Given the description of an element on the screen output the (x, y) to click on. 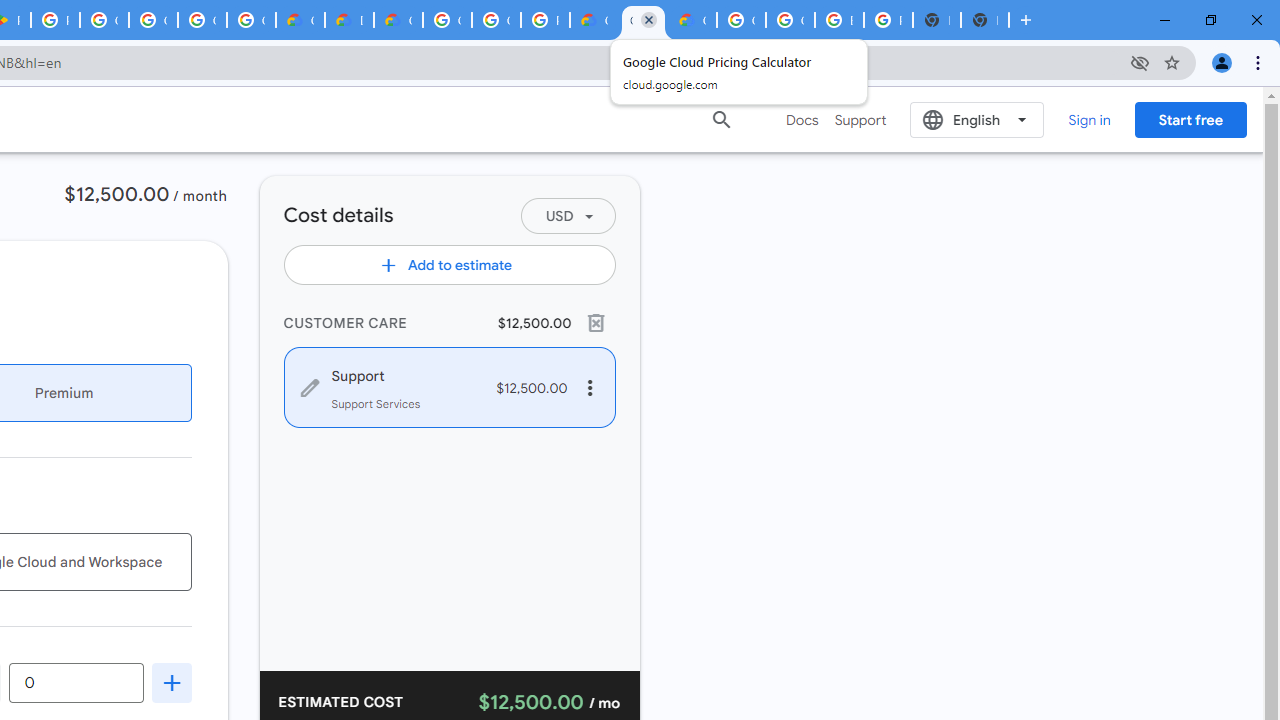
Google Cloud Platform (790, 20)
Support (860, 119)
Add to estimate (448, 264)
Google Workspace - Specific Terms (251, 20)
Gemini for Business and Developers | Google Cloud (398, 20)
Google Cloud Service Health (692, 20)
Google Cloud Platform (496, 20)
Open currency selector (567, 216)
